Given the description of an element on the screen output the (x, y) to click on. 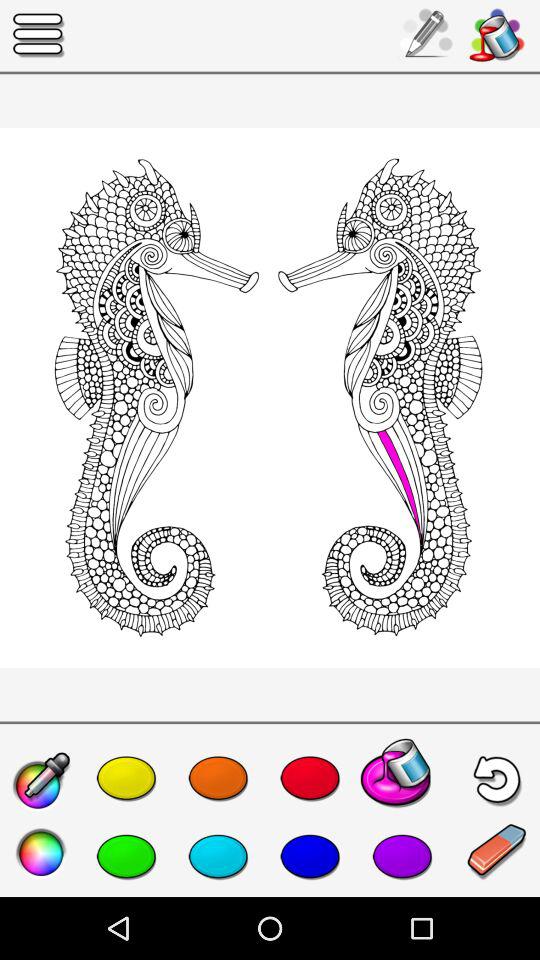
turn off item at the center (270, 397)
